Given the description of an element on the screen output the (x, y) to click on. 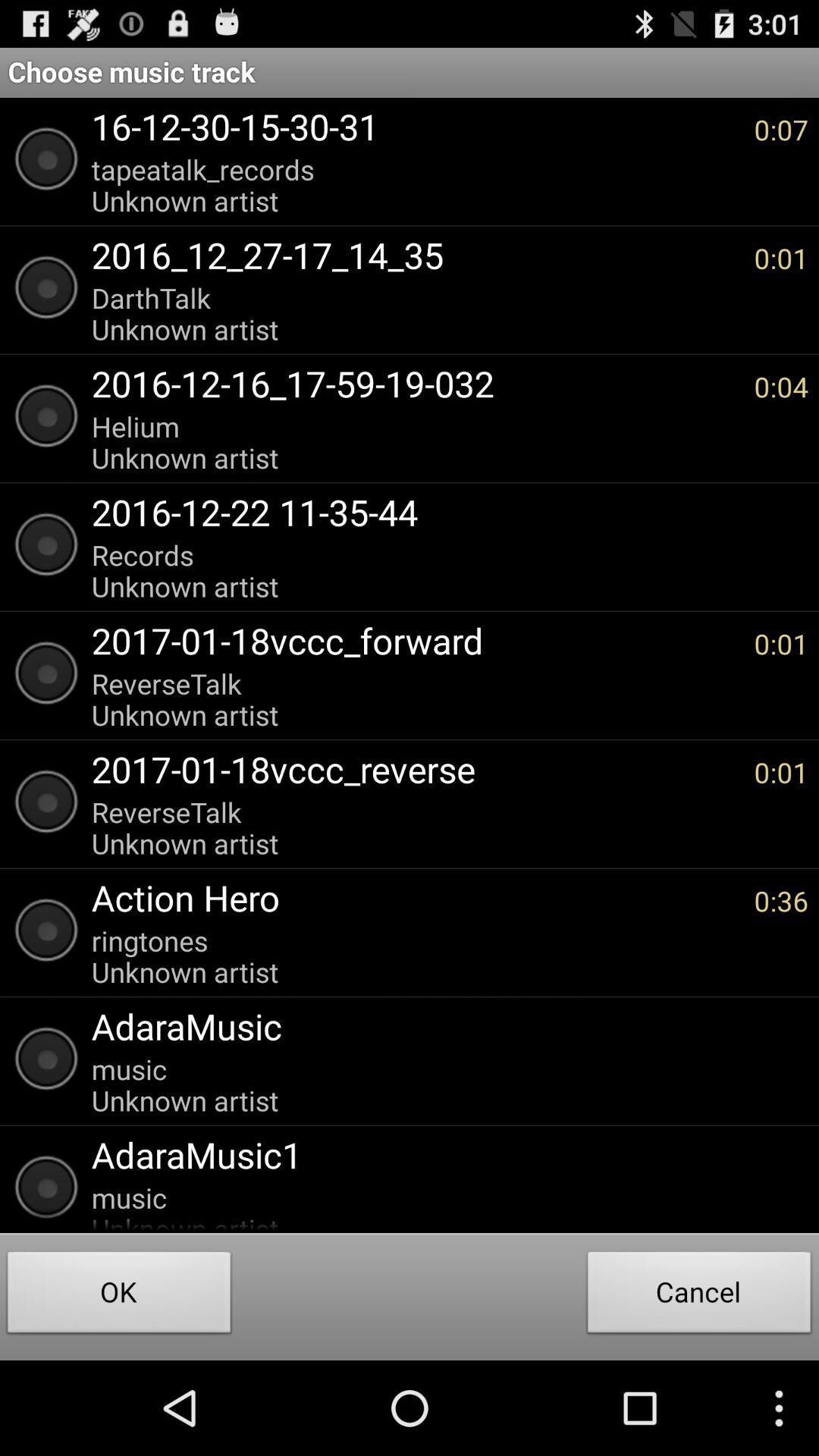
choose icon below 16 12 30 item (414, 185)
